Given the description of an element on the screen output the (x, y) to click on. 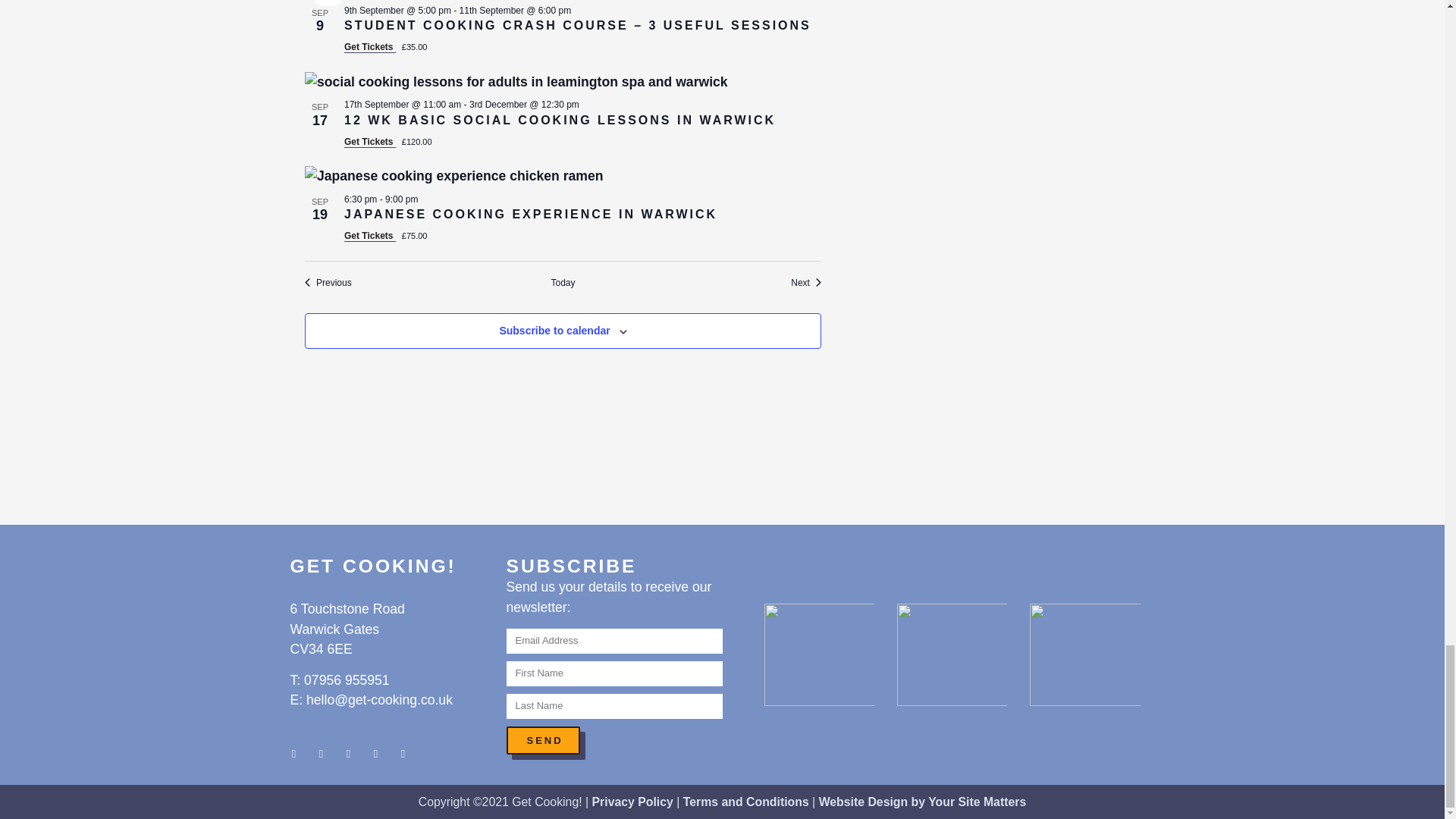
12 Wk Basic Social Cooking Lessons in Warwick (562, 81)
